Given the description of an element on the screen output the (x, y) to click on. 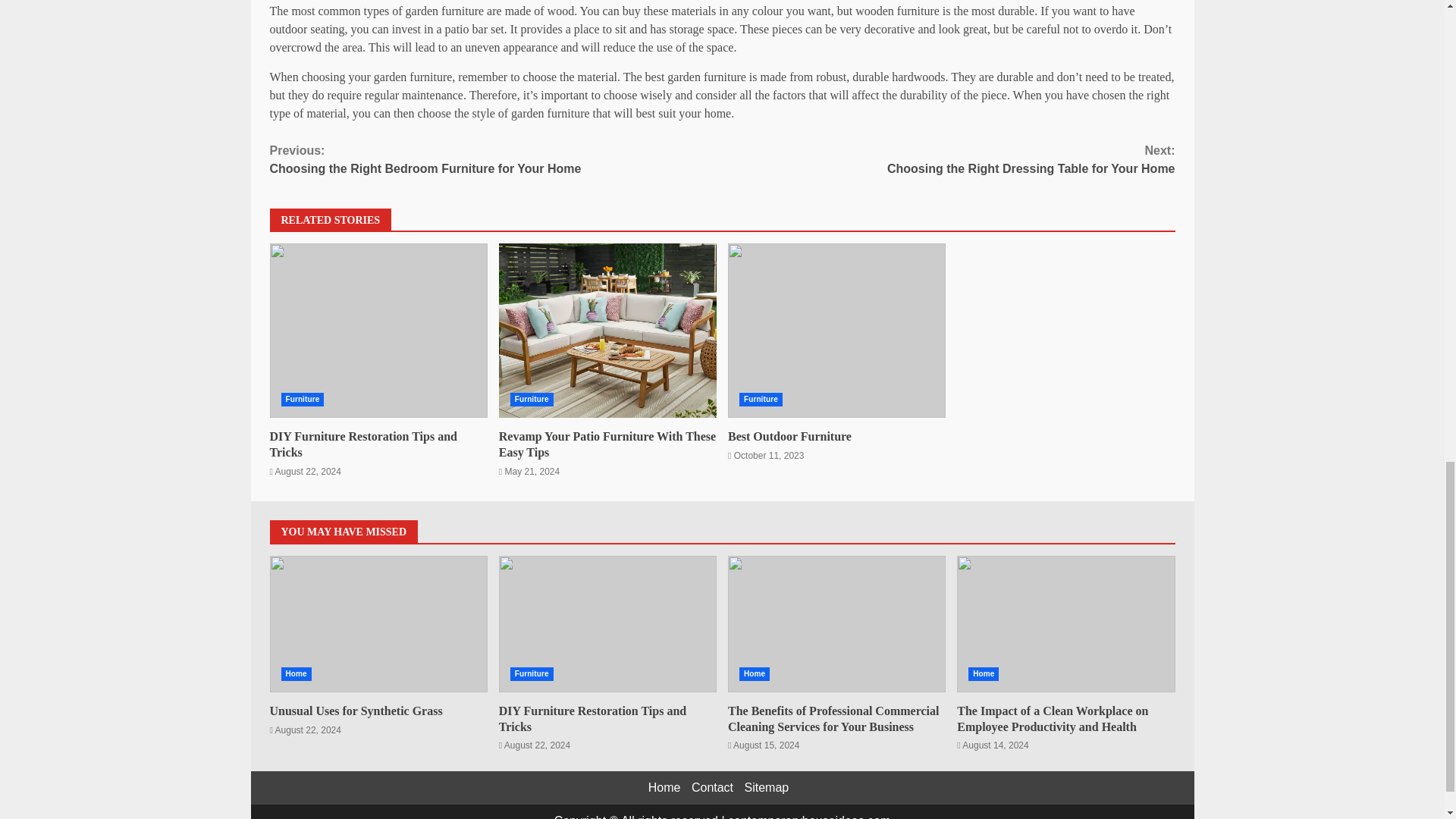
Furniture (532, 399)
DIY Furniture Restoration Tips and Tricks (363, 443)
Revamp Your Patio Furniture With These Easy Tips (607, 330)
DIY Furniture Restoration Tips and Tricks (378, 330)
Unusual Uses for Synthetic Grass (378, 624)
Furniture (761, 399)
Furniture (495, 159)
Best Outdoor Furniture (302, 399)
